Given the description of an element on the screen output the (x, y) to click on. 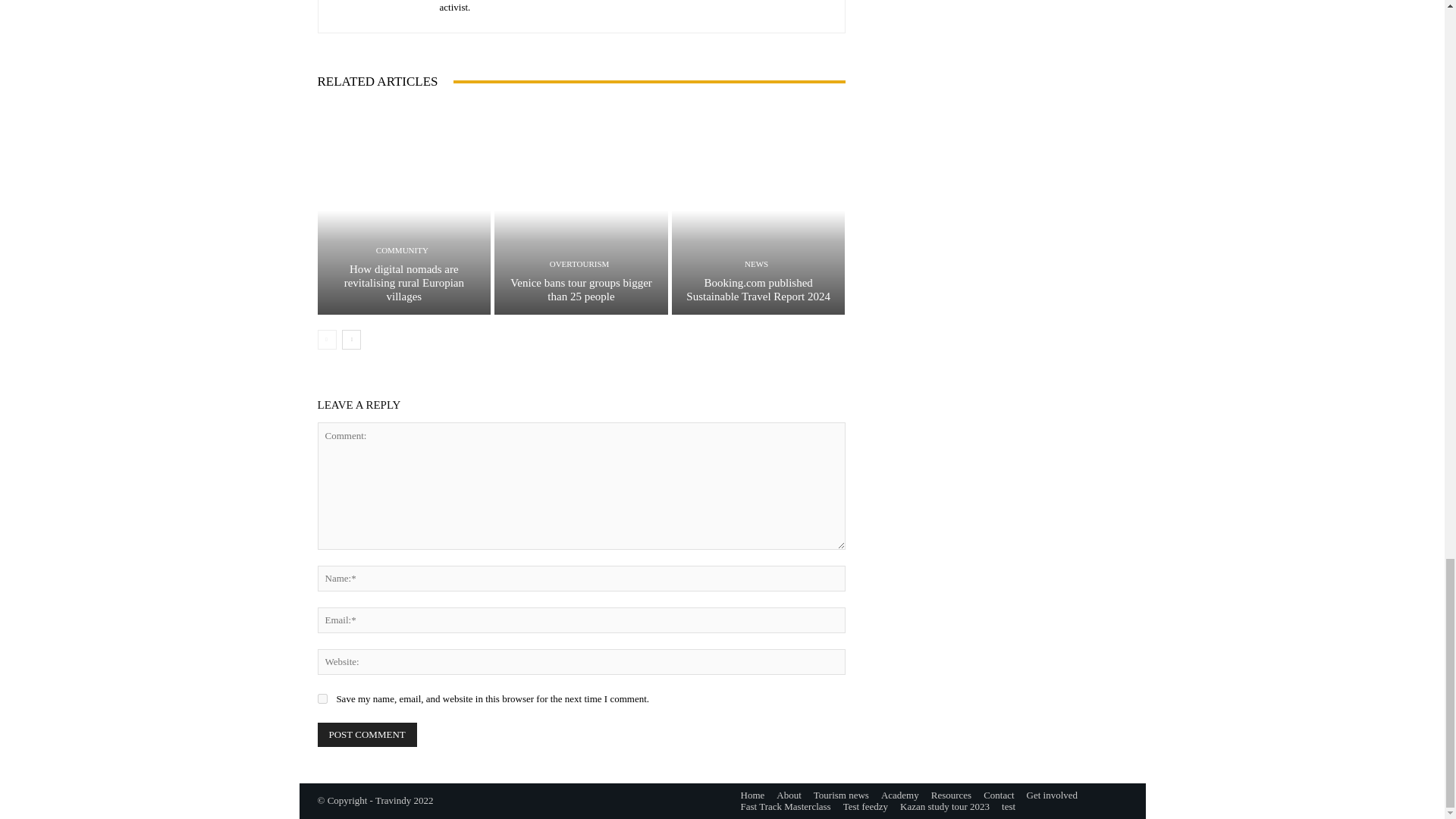
yes (321, 698)
Post Comment (366, 734)
